Given the description of an element on the screen output the (x, y) to click on. 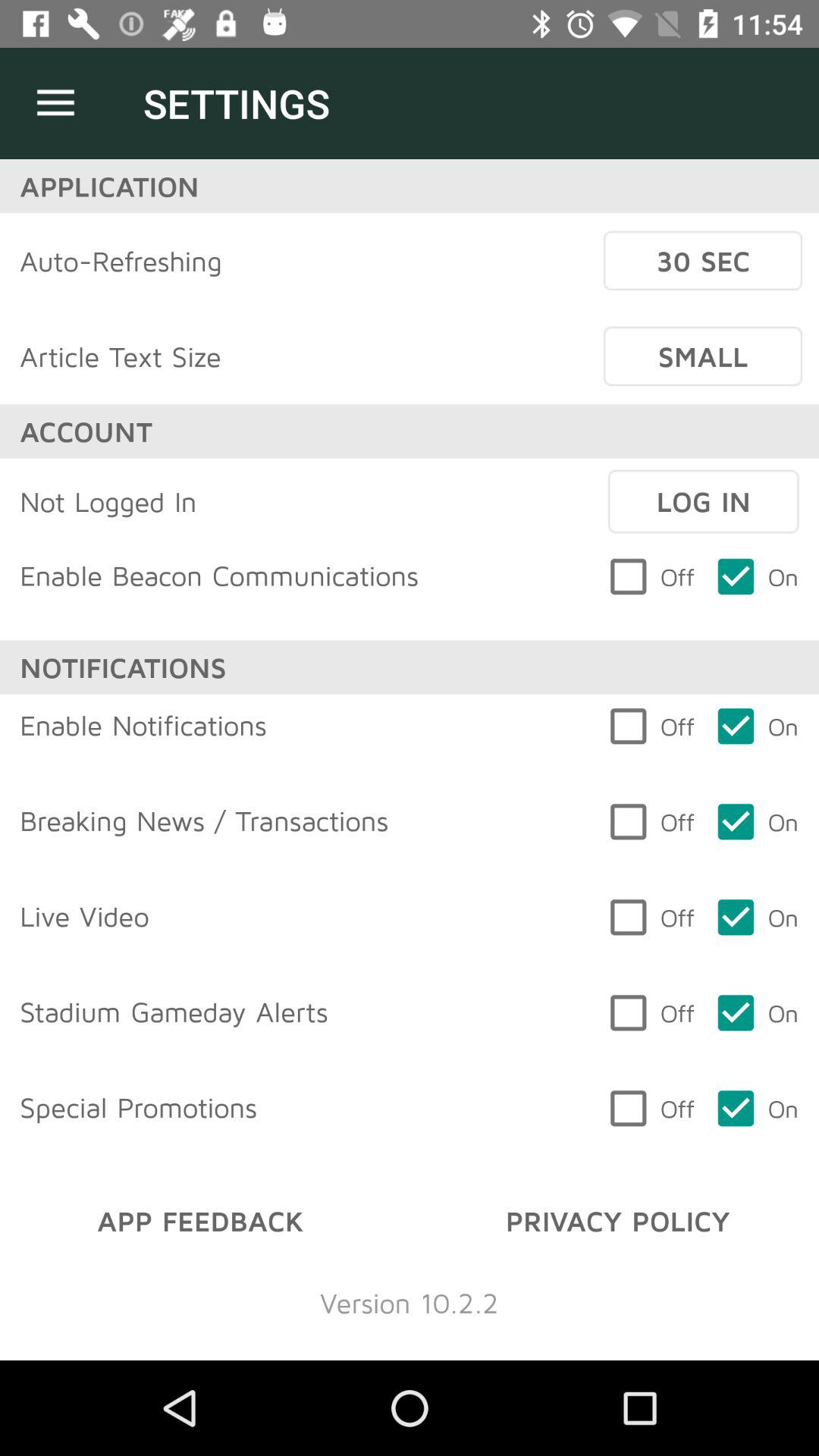
click the icon below small (703, 501)
